Given the description of an element on the screen output the (x, y) to click on. 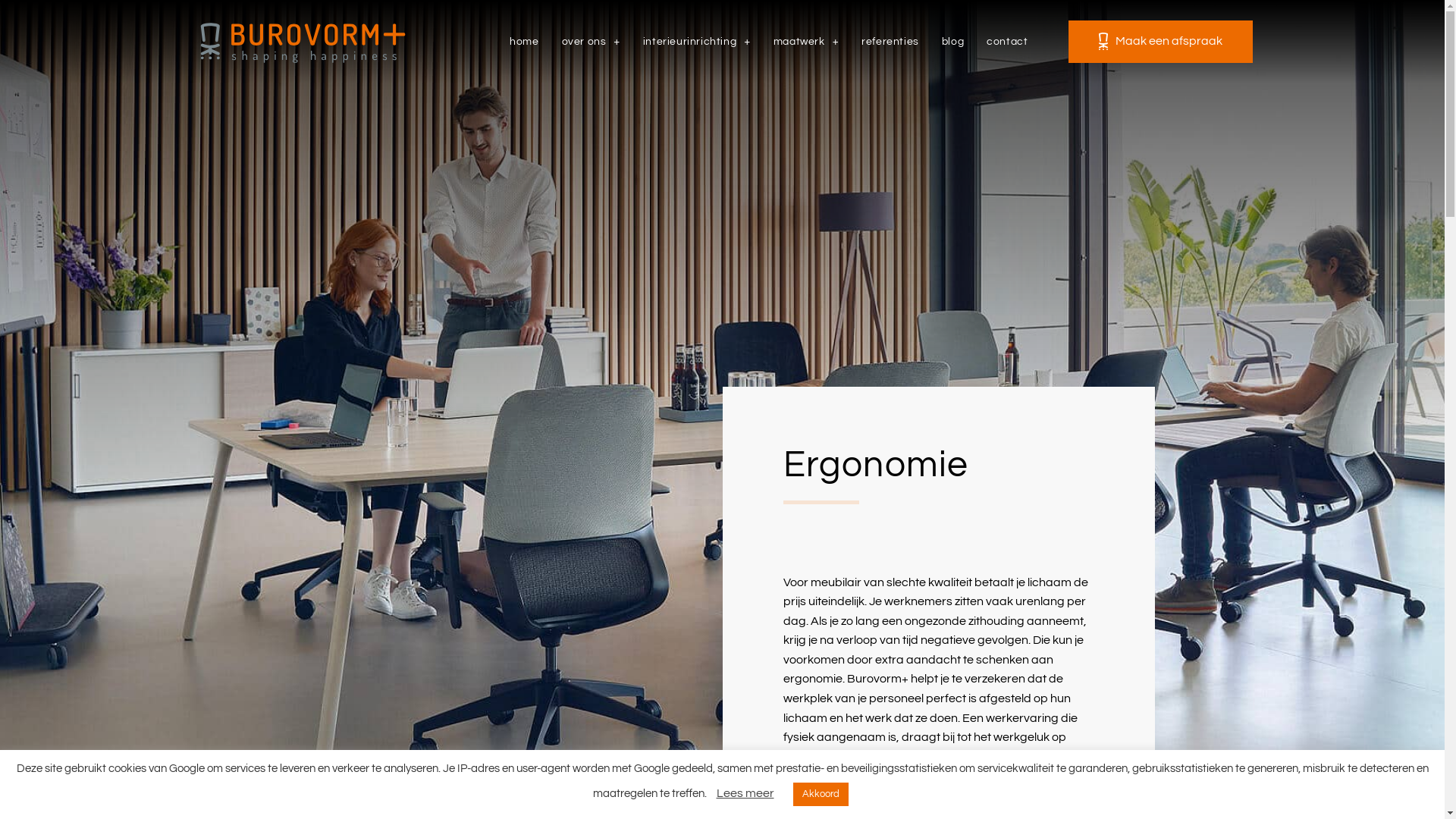
contact Element type: text (1006, 41)
over ons Element type: text (590, 41)
maatwerk Element type: text (806, 41)
referenties Element type: text (890, 41)
interieurinrichting Element type: text (696, 41)
Maak een afspraak Element type: text (1160, 41)
home Element type: text (523, 41)
Akkoord Element type: text (820, 794)
blog Element type: text (952, 41)
Lees meer Element type: text (744, 793)
